Given the description of an element on the screen output the (x, y) to click on. 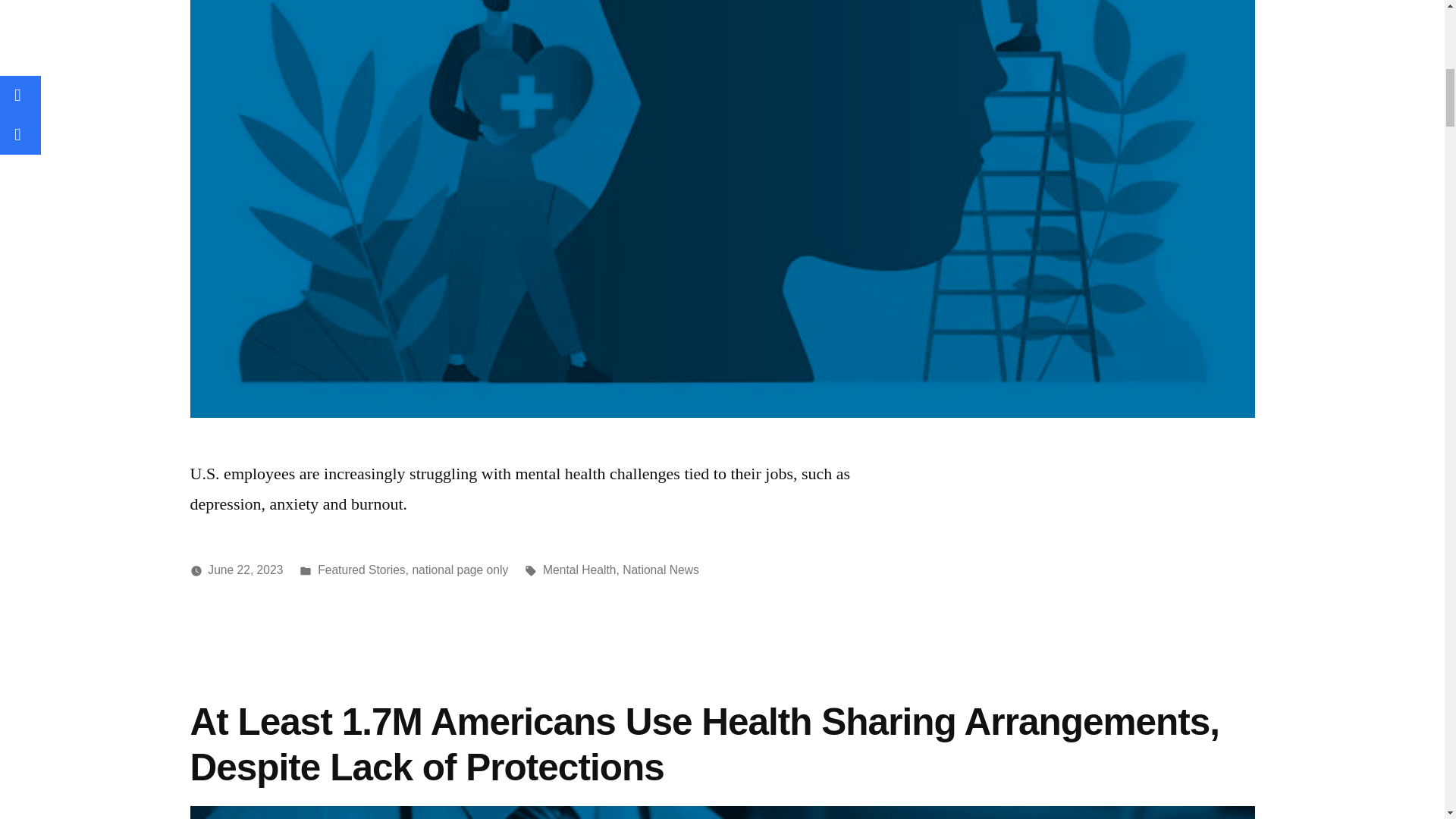
national page only (460, 569)
June 22, 2023 (245, 569)
Mental Health (579, 569)
National News (660, 569)
Featured Stories (361, 569)
